Given the description of an element on the screen output the (x, y) to click on. 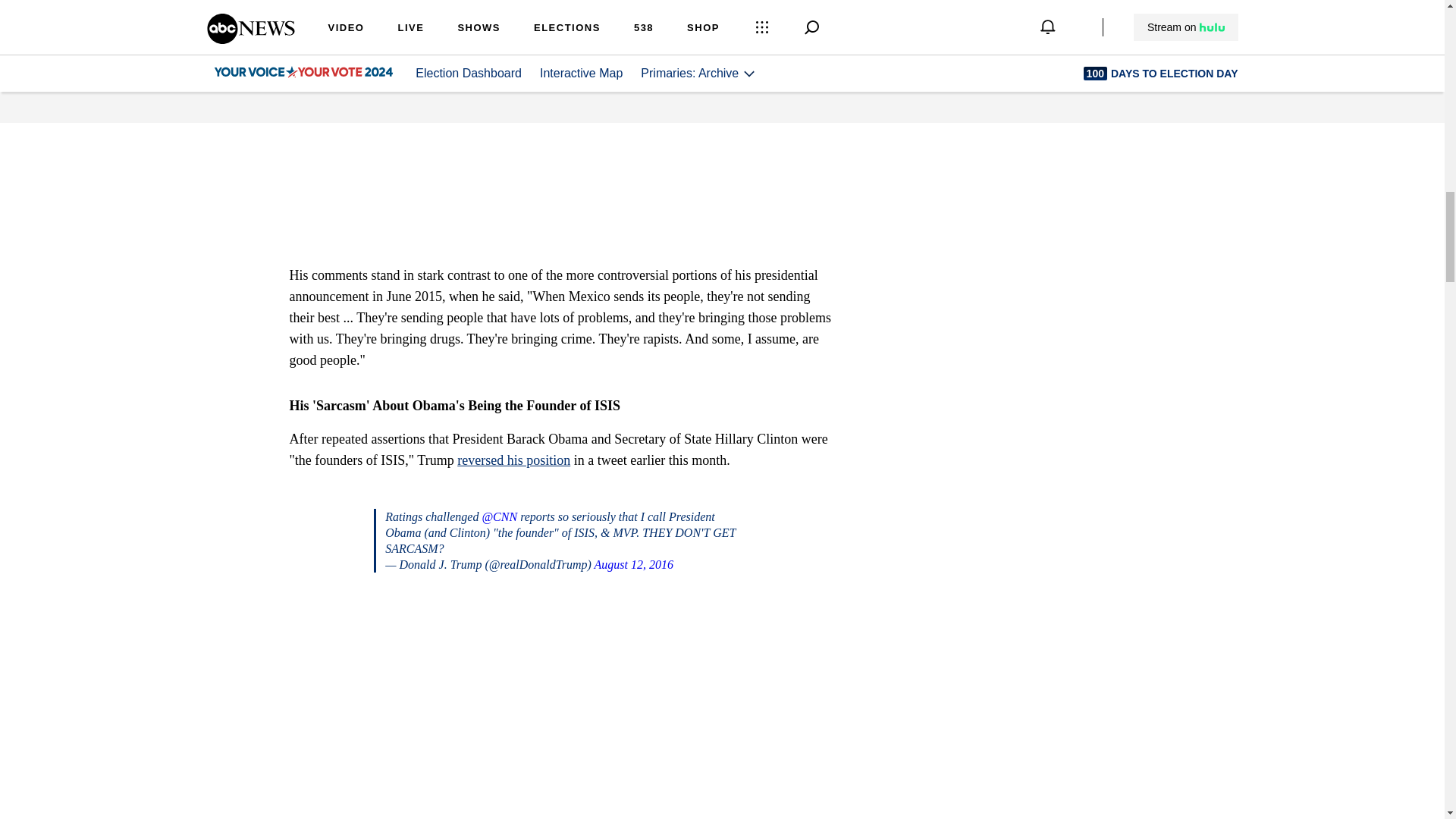
August 12, 2016 (633, 563)
reversed his position (513, 459)
